Given the description of an element on the screen output the (x, y) to click on. 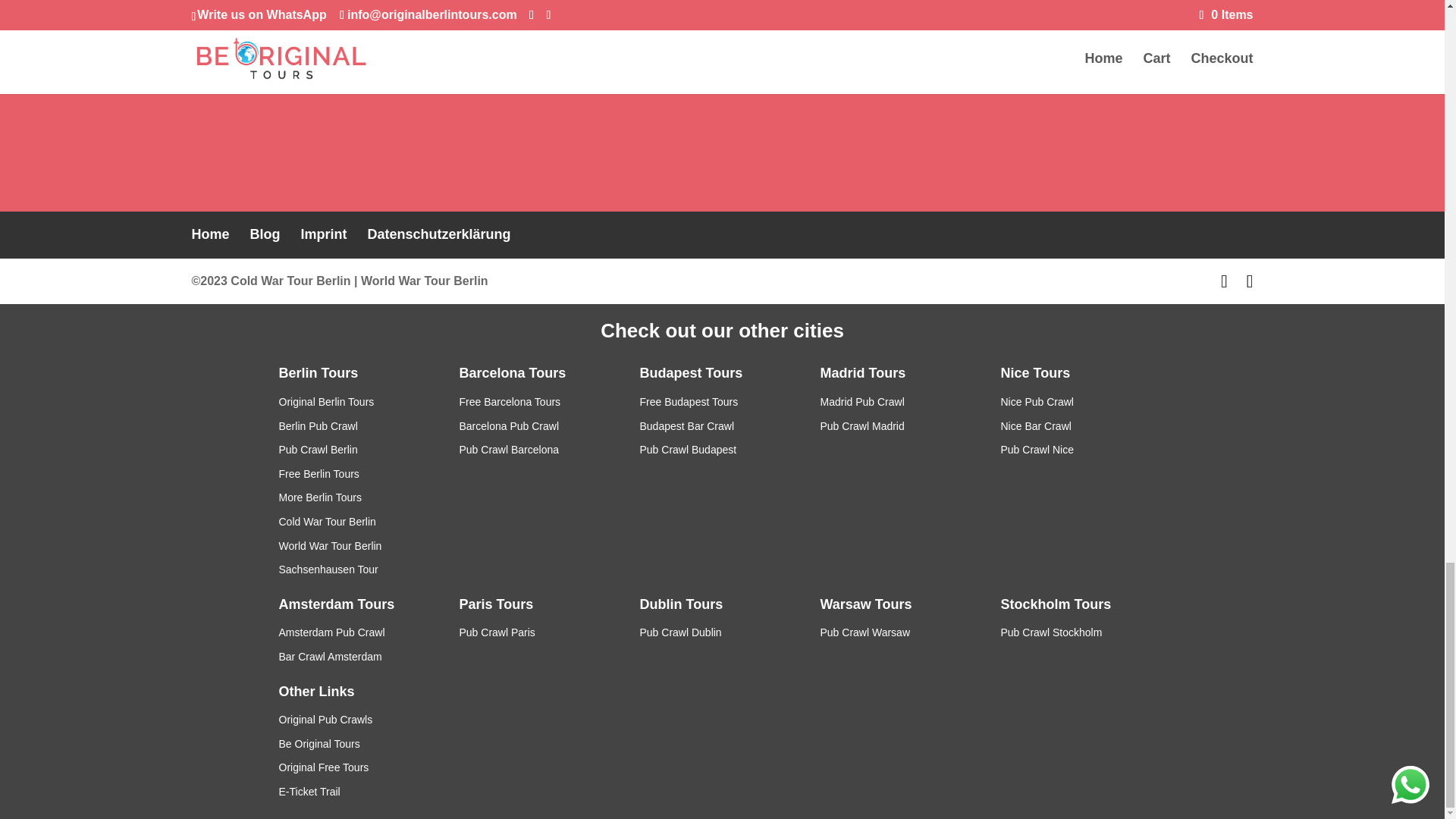
Sachsenhausen Tour (328, 569)
Free Barcelona Tours (510, 401)
Barcelona Pub Crawl (509, 426)
Cold War Tour Berlin (327, 521)
Berlin Pub Crawl (318, 426)
Book Your Cold War Tour Now (722, 4)
Imprint (324, 233)
Home (209, 233)
World War Tour Berlin (330, 545)
World War Tour Berlin (424, 280)
